Given the description of an element on the screen output the (x, y) to click on. 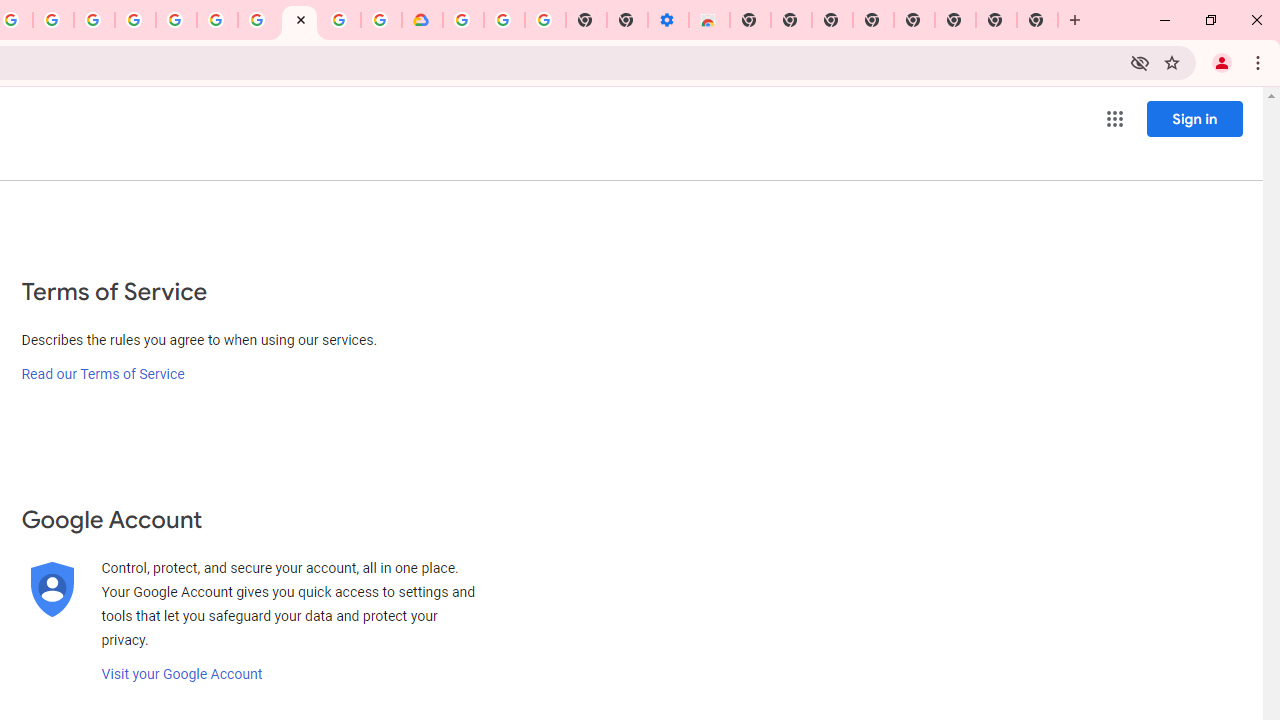
Visit your Google Account (181, 674)
Google Account Help (258, 20)
Create your Google Account (53, 20)
Google Account Help (503, 20)
Create your Google Account (340, 20)
Read our Terms of Service (102, 374)
Sign in - Google Accounts (462, 20)
Sign in - Google Accounts (176, 20)
